Given the description of an element on the screen output the (x, y) to click on. 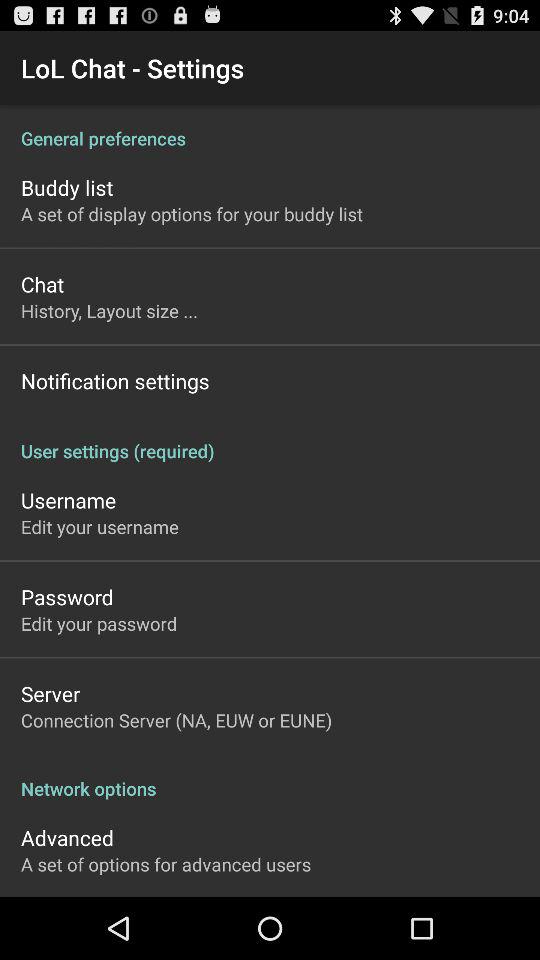
turn off the user settings (required) item (270, 440)
